Given the description of an element on the screen output the (x, y) to click on. 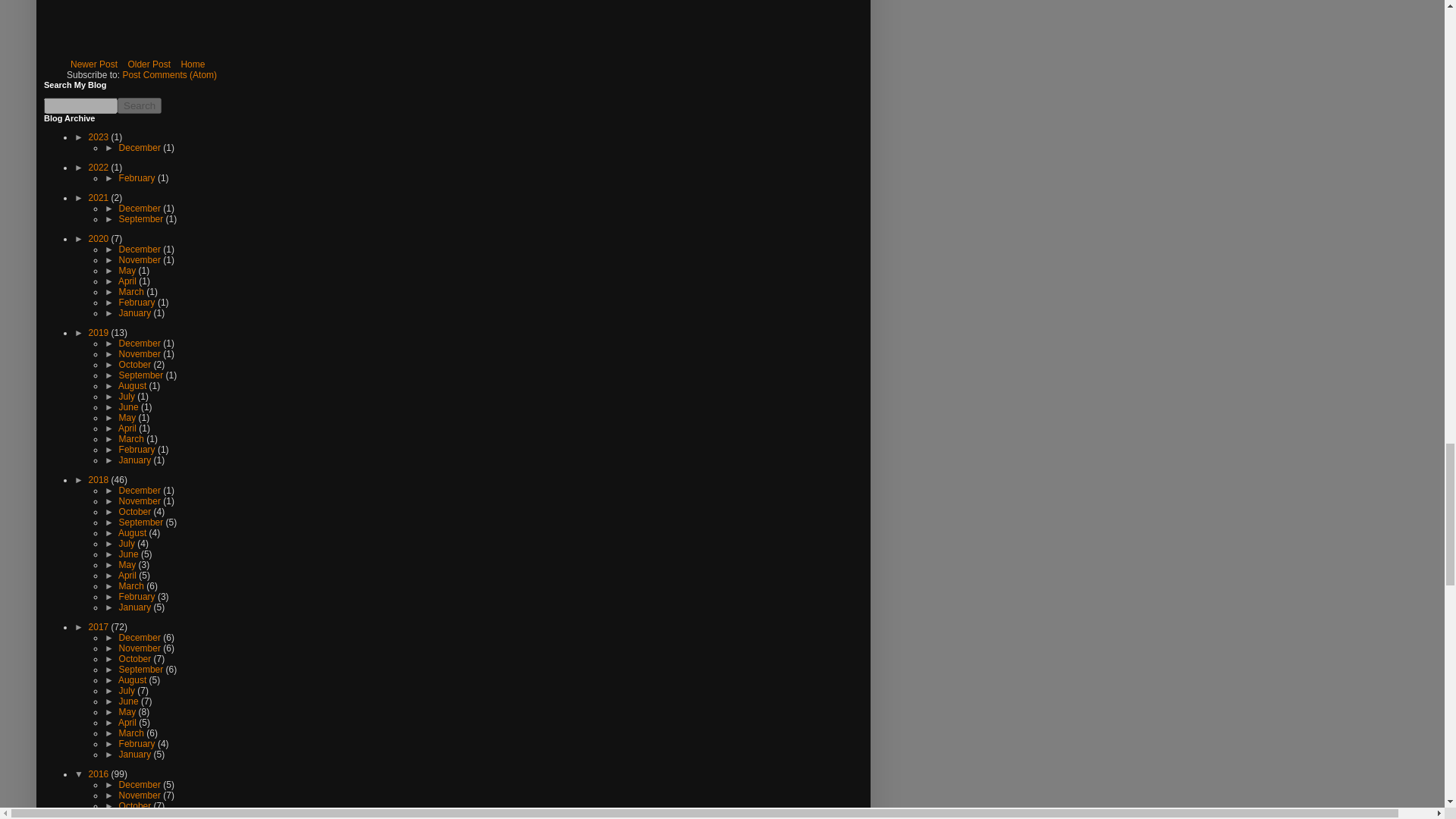
Older Post (148, 64)
Newer Post (93, 64)
2021 (100, 197)
Older Post (148, 64)
Newer Post (93, 64)
December (141, 147)
search (80, 105)
2022 (100, 167)
February (138, 177)
Home (192, 64)
